Given the description of an element on the screen output the (x, y) to click on. 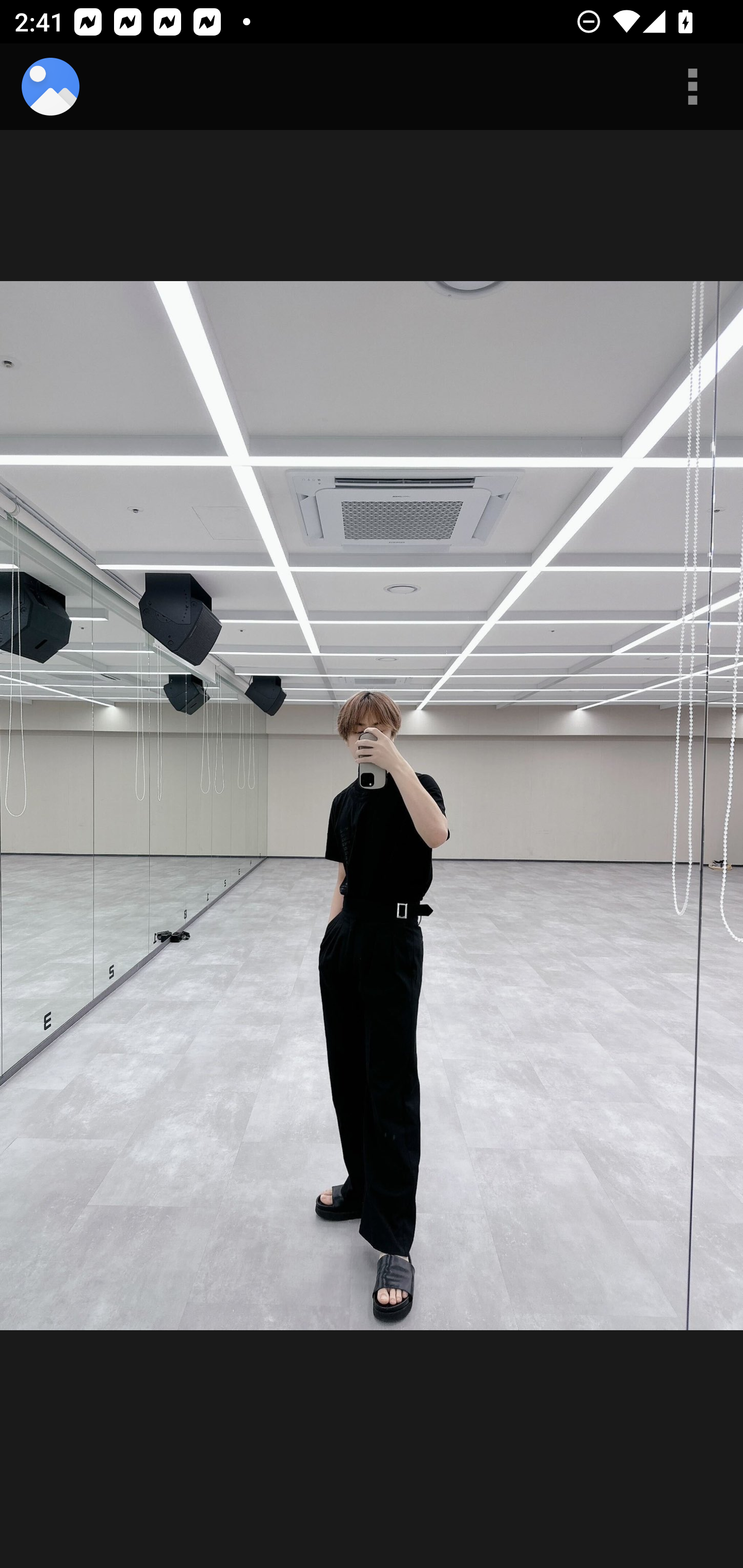
More options (692, 86)
